Given the description of an element on the screen output the (x, y) to click on. 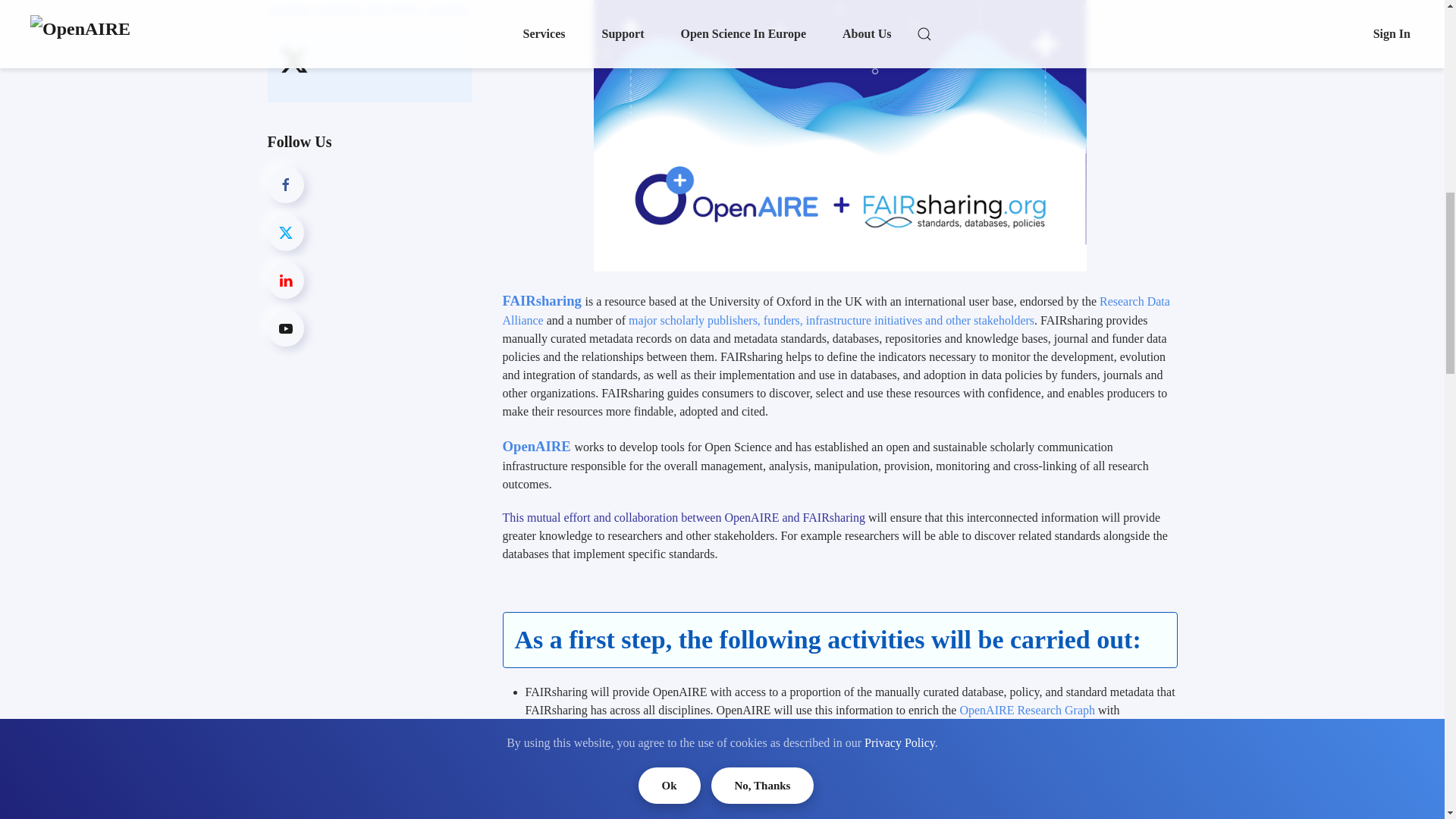
OpenAIRE Research Graph (1026, 709)
Research Data Alliance (835, 310)
